Given the description of an element on the screen output the (x, y) to click on. 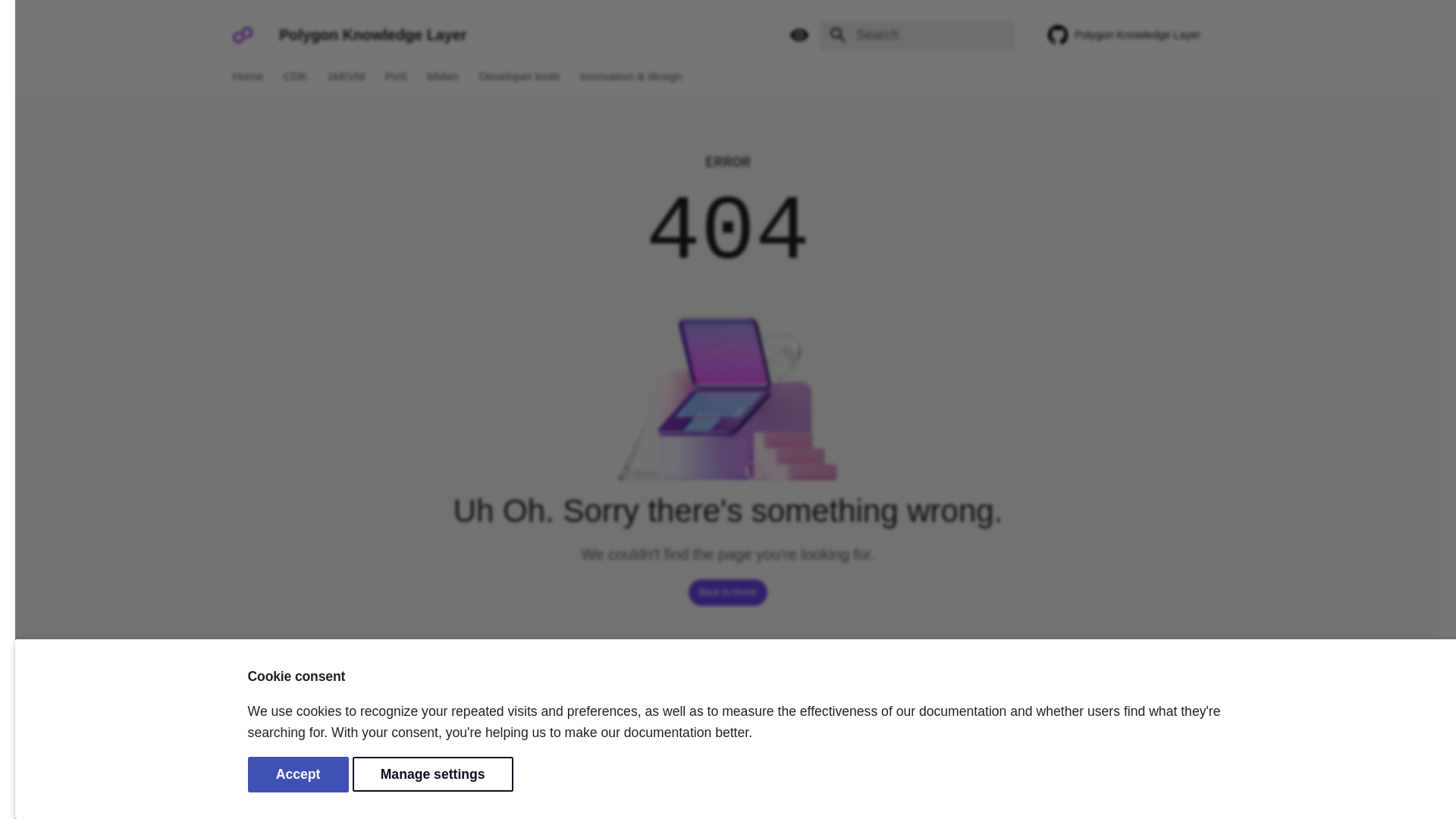
Polygon Knowledge Layer (1135, 35)
Home (247, 75)
github.com (1213, 776)
zkEVM (347, 75)
PoS (396, 75)
Developer tools (519, 75)
Polygon Knowledge Layer (242, 34)
Miden (442, 75)
support.polygon.technology (1153, 776)
Switch to dark mode (799, 34)
CDK (295, 75)
polygon.technology (1183, 776)
Go to repository (1135, 35)
